Given the description of an element on the screen output the (x, y) to click on. 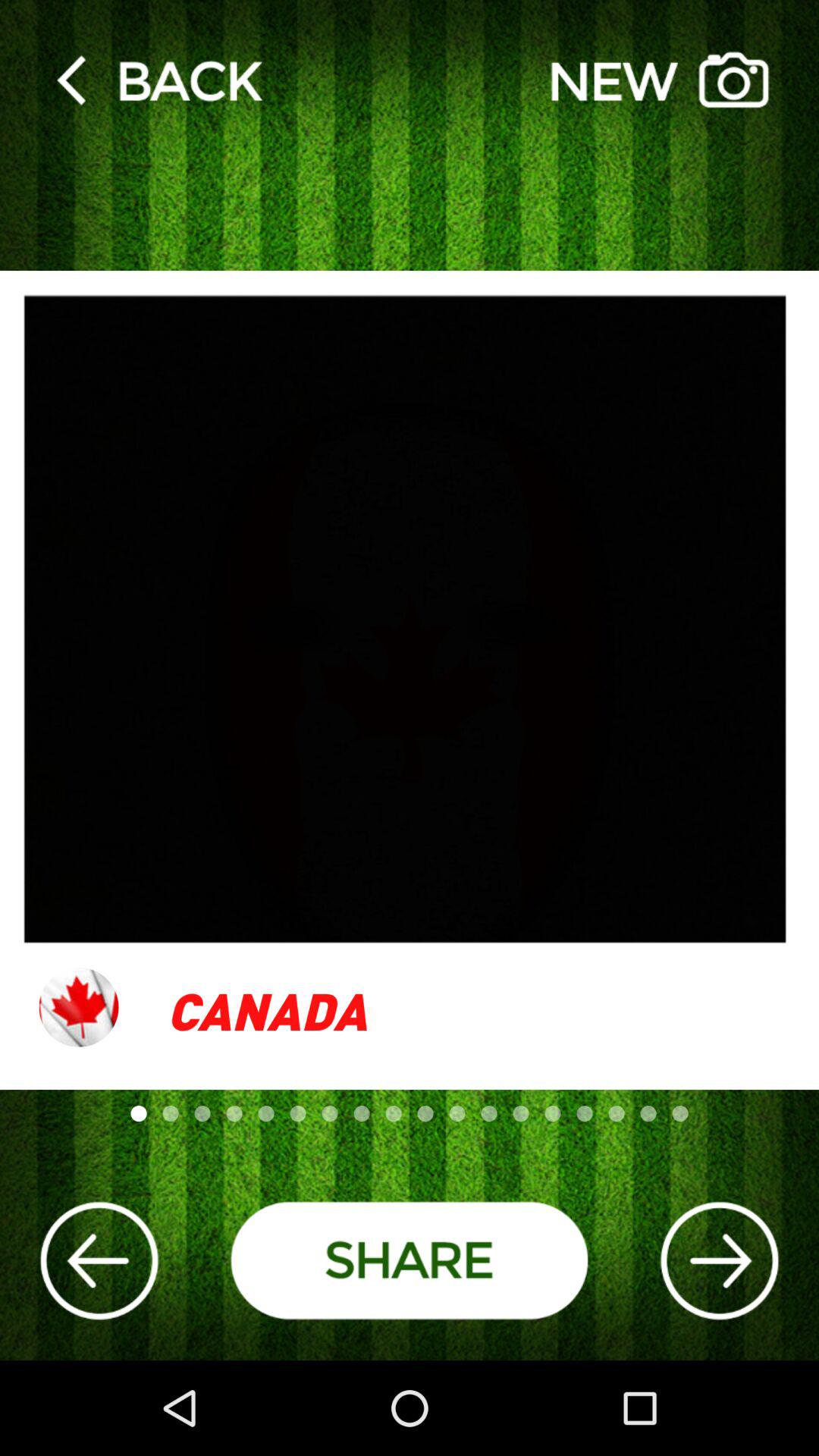
share option (409, 1260)
